Given the description of an element on the screen output the (x, y) to click on. 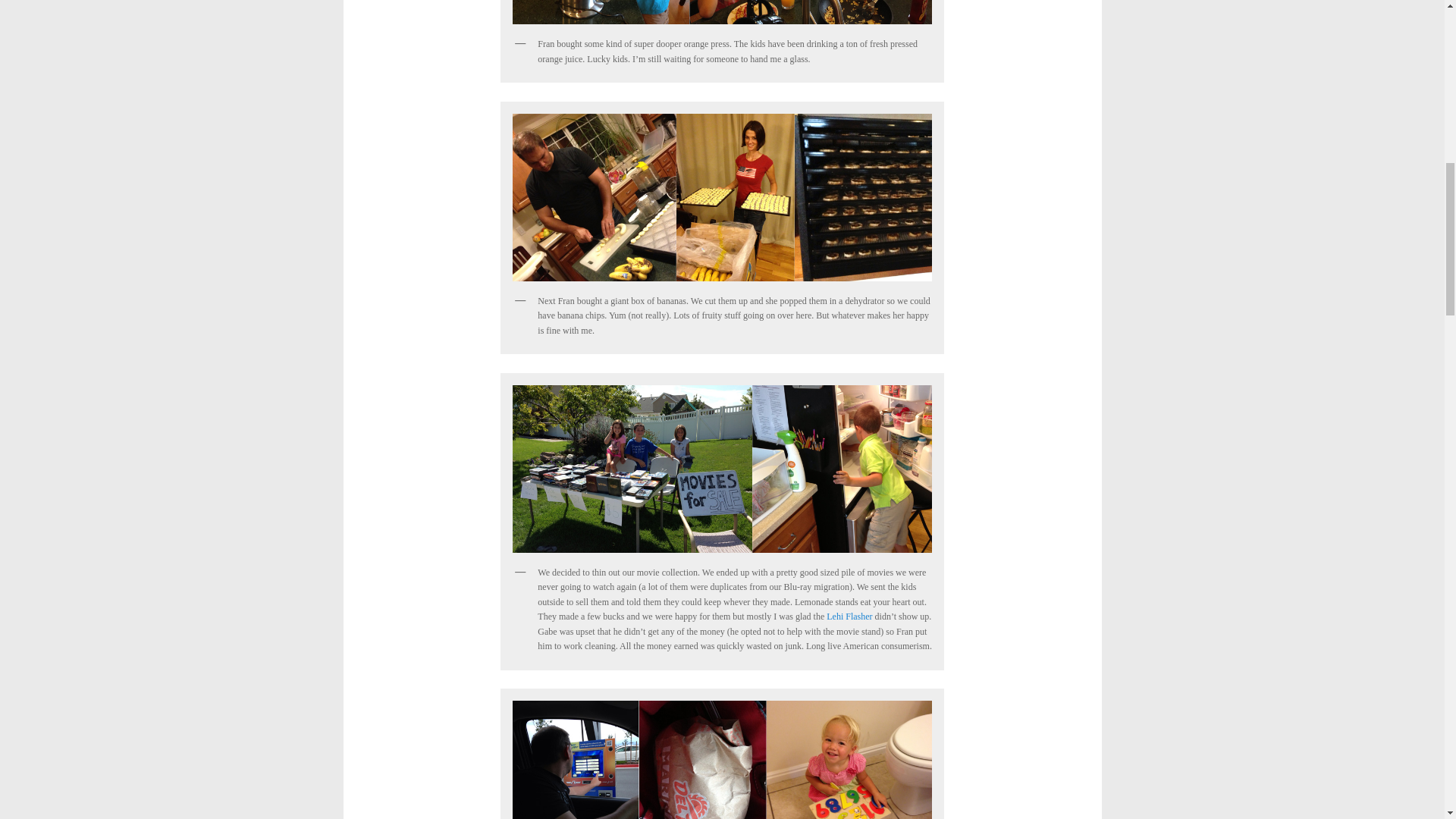
Lehi Flasher (849, 615)
